Given the description of an element on the screen output the (x, y) to click on. 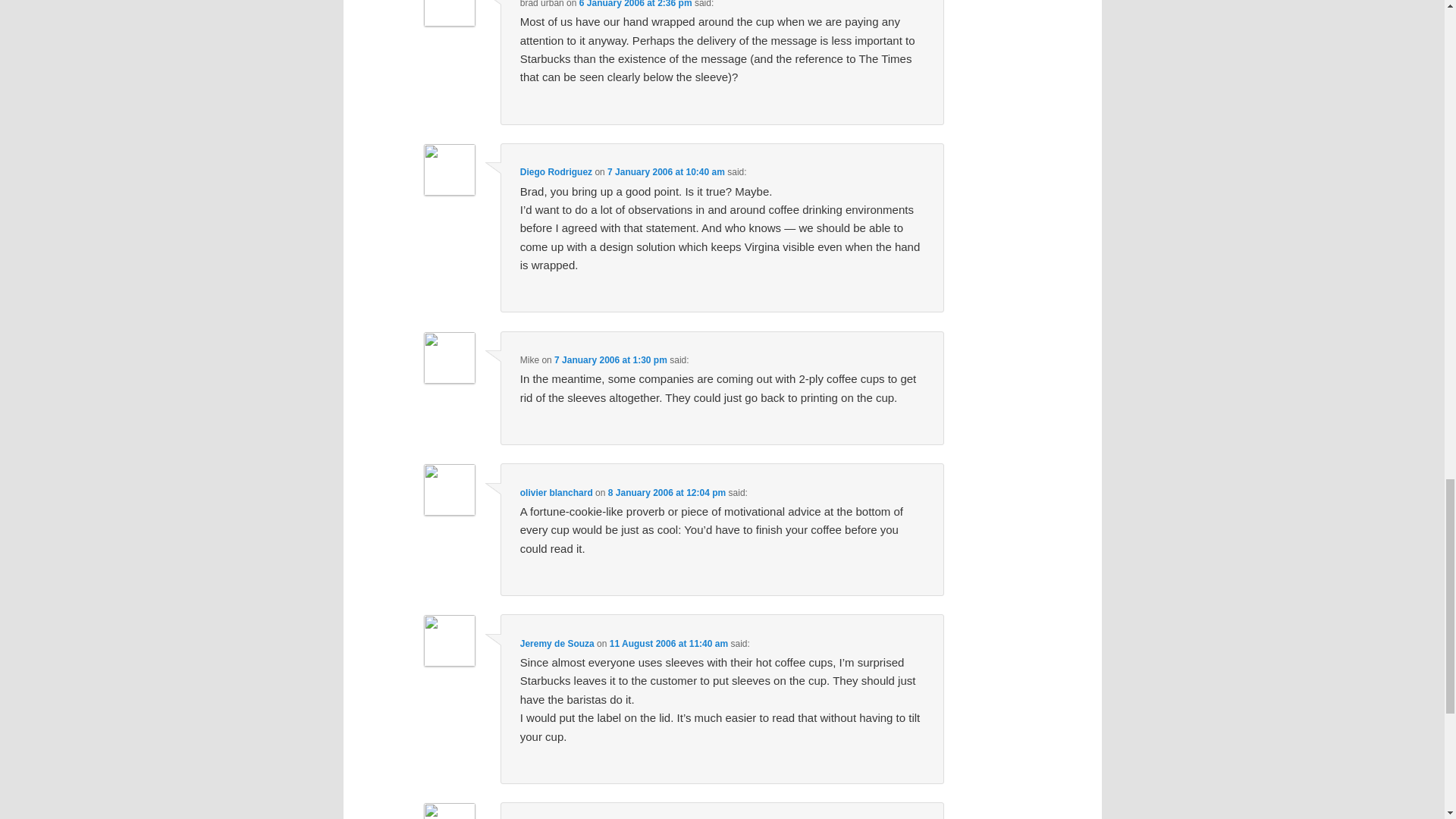
7 January 2006 at 1:30 pm (610, 359)
Diego Rodriguez (555, 172)
11 August 2006 at 11:40 am (669, 643)
8 January 2006 at 12:04 pm (666, 492)
6 January 2006 at 2:36 pm (636, 4)
Jeremy de Souza (556, 643)
olivier blanchard (555, 492)
7 January 2006 at 10:40 am (666, 172)
